Given the description of an element on the screen output the (x, y) to click on. 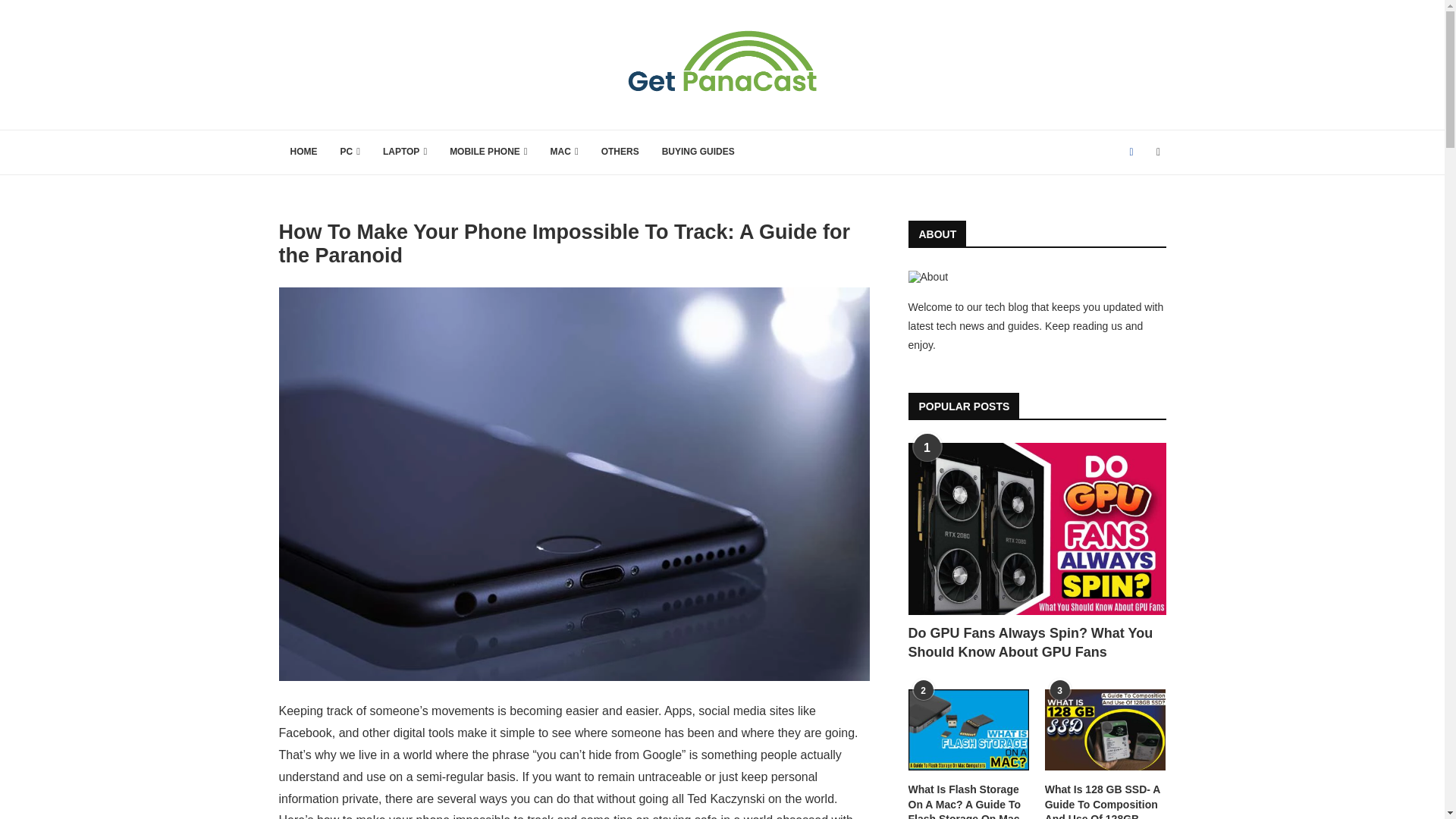
HOME (304, 151)
LAPTOP (404, 151)
PC (350, 151)
